Given the description of an element on the screen output the (x, y) to click on. 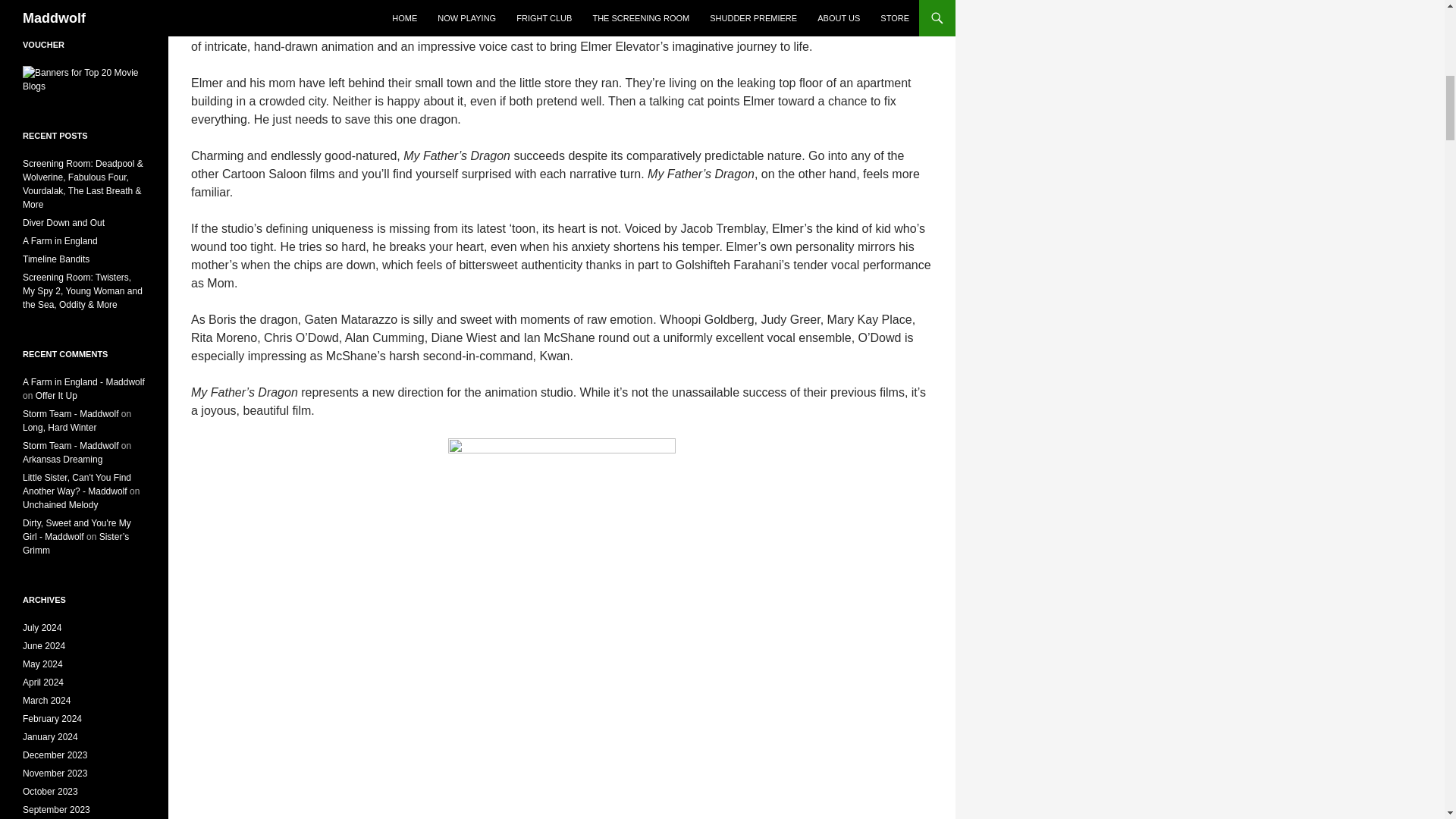
Banners for Top 20 Movie Blogs (84, 78)
